Given the description of an element on the screen output the (x, y) to click on. 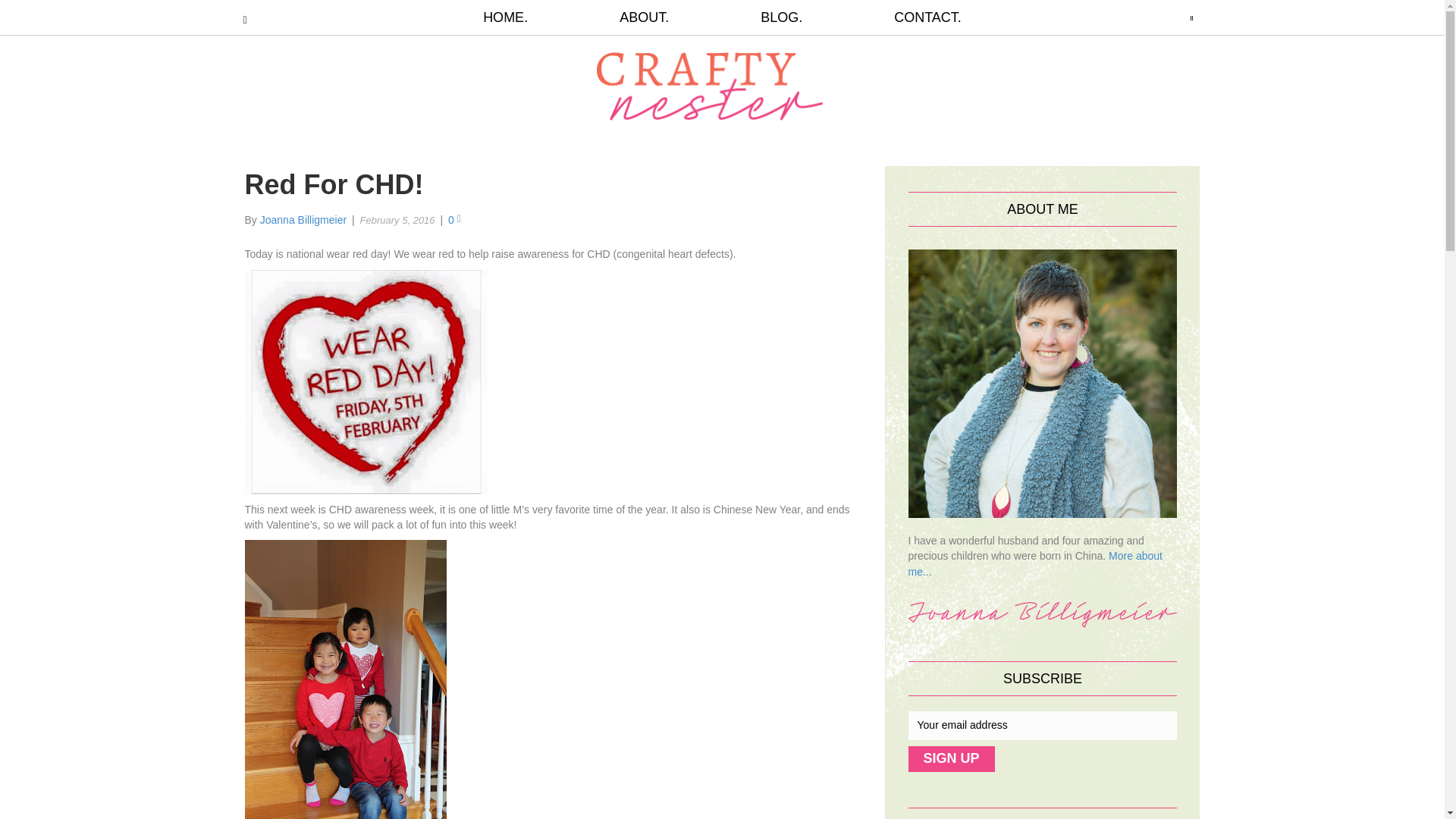
0 (454, 219)
CONTACT. (904, 17)
Sign up (951, 759)
HOME. (528, 17)
Sign up (951, 759)
ABOUT. (643, 17)
Joanna Billigmeier (303, 219)
Joanna Headshot (1042, 383)
BLOG. (780, 17)
More about me... (1034, 563)
